Given the description of an element on the screen output the (x, y) to click on. 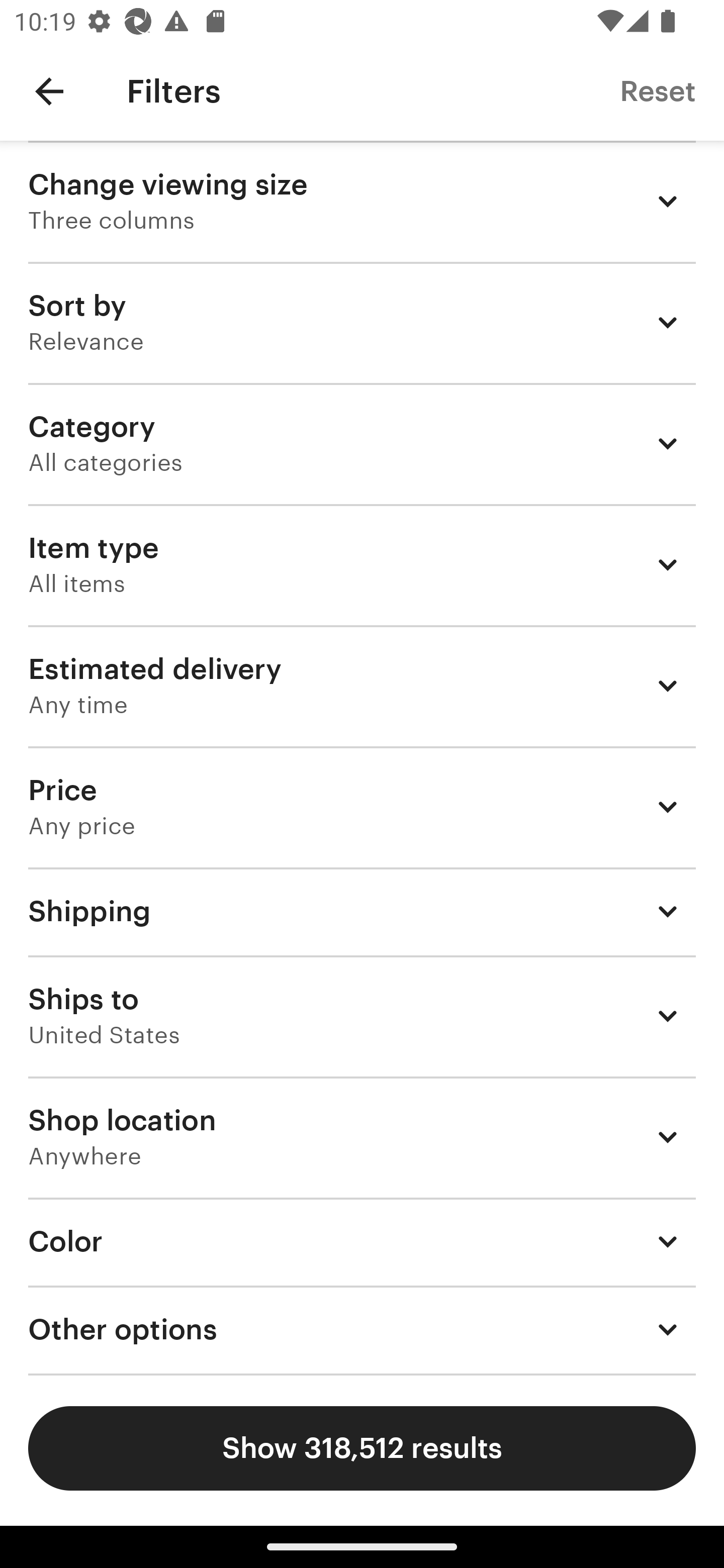
Navigate up (49, 91)
Reset (657, 90)
Change viewing size Three columns (362, 201)
Sort by Relevance (362, 321)
Category All categories (362, 442)
Item type All items (362, 564)
Estimated delivery Any time (362, 685)
Price Any price (362, 806)
Shipping (362, 910)
Ships to United States (362, 1015)
Shop location Anywhere (362, 1137)
Color (362, 1241)
Other options (362, 1329)
Show 318,512 results Show results (361, 1448)
